Given the description of an element on the screen output the (x, y) to click on. 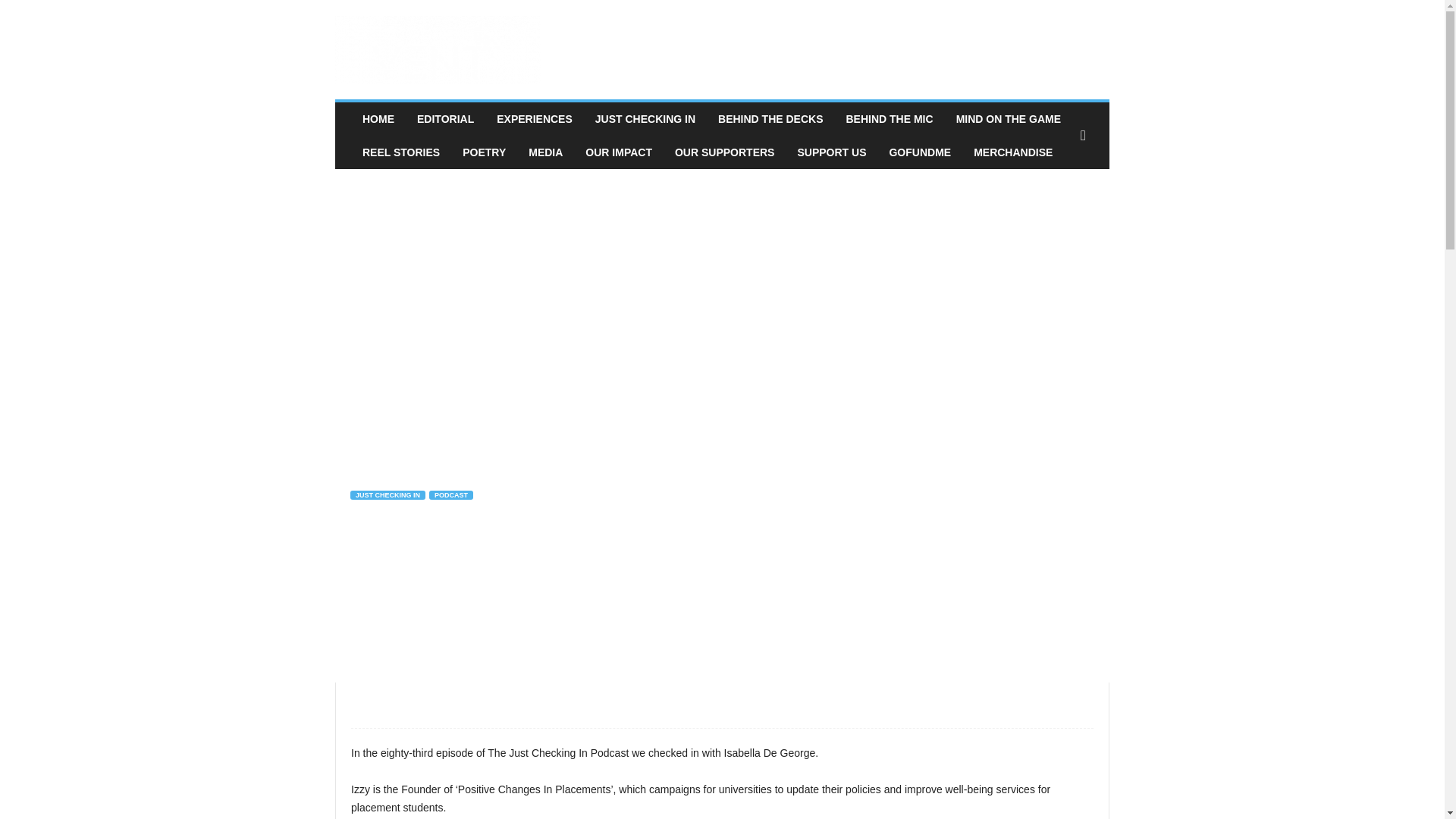
EXPERIENCES (533, 118)
HOME (378, 118)
EDITORIAL (445, 118)
JUST CHECKING IN (644, 118)
